Given the description of an element on the screen output the (x, y) to click on. 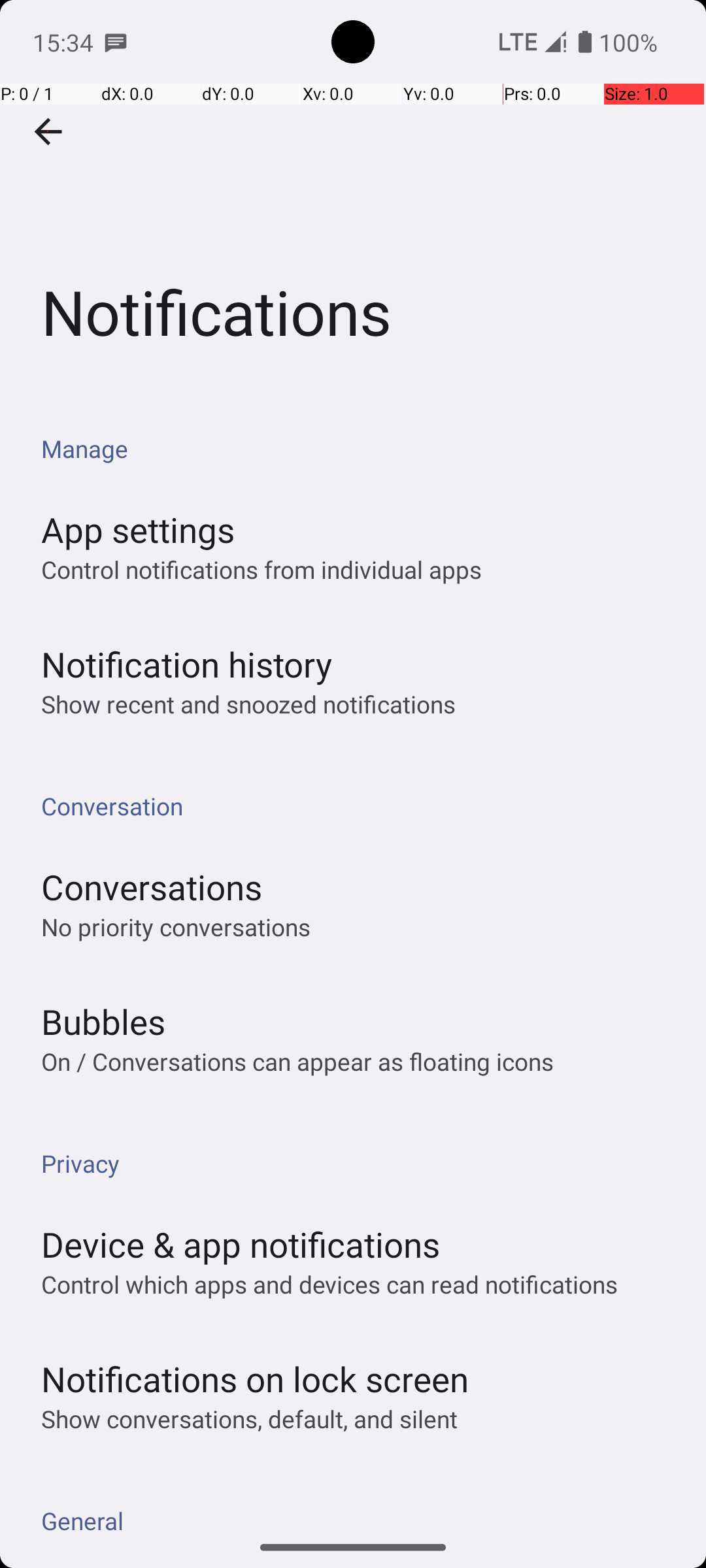
Show conversations, default, and silent Element type: android.widget.TextView (249, 1418)
